Given the description of an element on the screen output the (x, y) to click on. 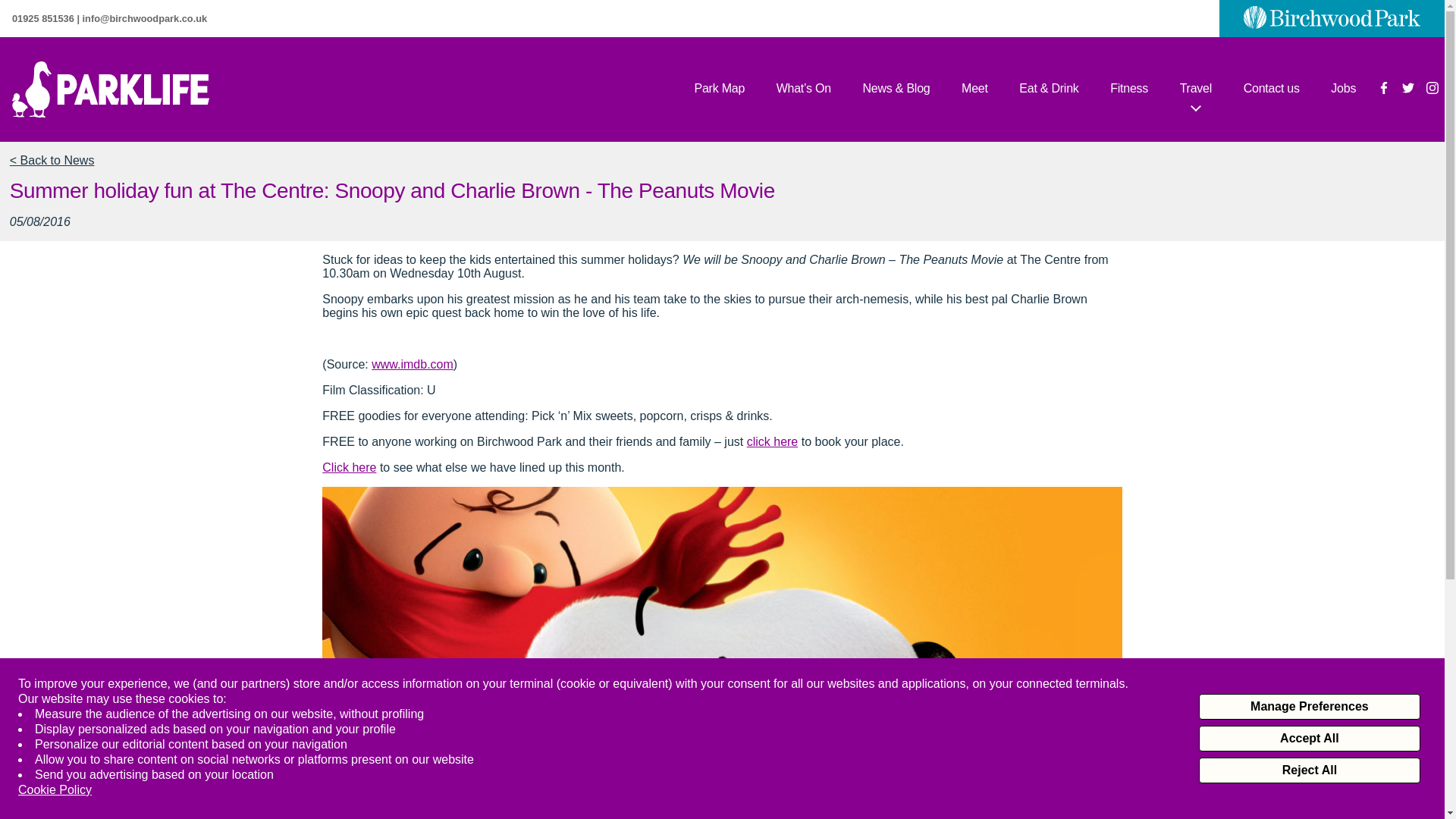
Contact us (1270, 89)
click here (771, 440)
Manage Preferences (1309, 706)
Accept All (1309, 738)
Jobs (1343, 89)
Travel (1195, 89)
Meet (974, 89)
Home (110, 88)
Park Map (719, 89)
Cookie Policy (54, 789)
